Given the description of an element on the screen output the (x, y) to click on. 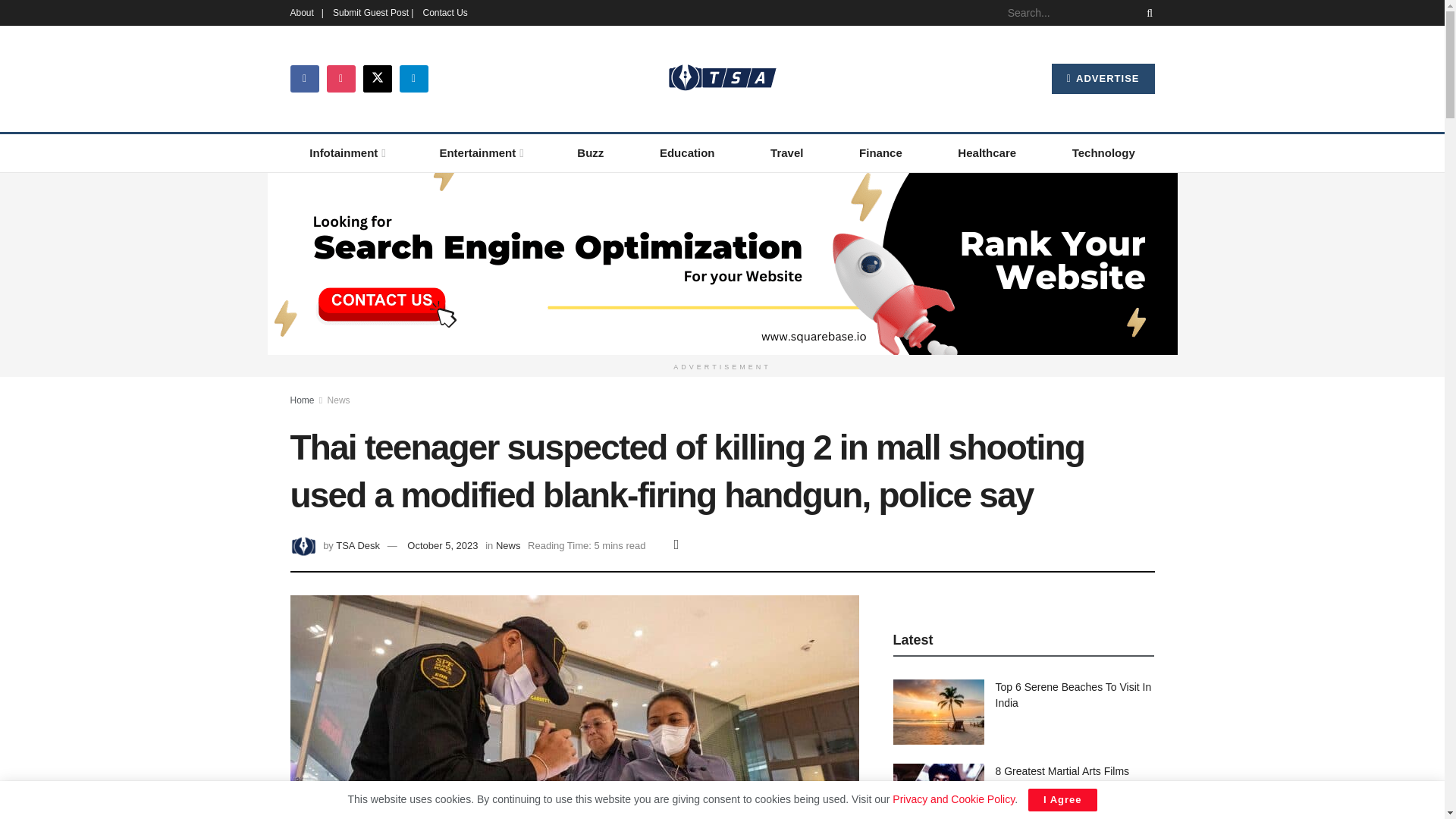
Education (686, 152)
Technology (1103, 152)
Infotainment (346, 152)
Contact Us (444, 12)
TSA Desk (358, 545)
Travel (786, 152)
Finance (880, 152)
ADVERTISE (1102, 78)
News (338, 398)
